Given the description of an element on the screen output the (x, y) to click on. 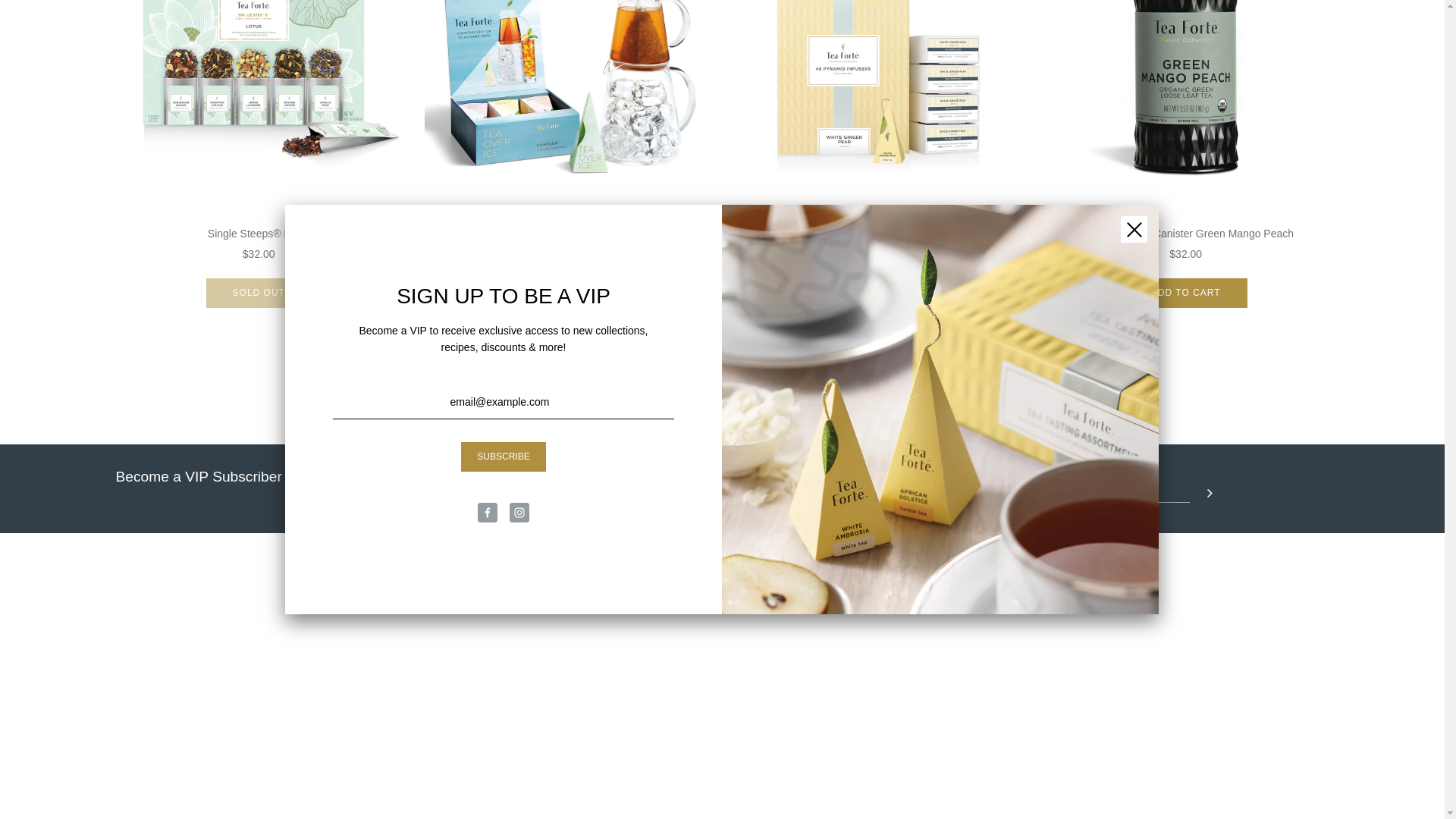
facebook-square (1052, 619)
instagram-square (1088, 619)
